Given the description of an element on the screen output the (x, y) to click on. 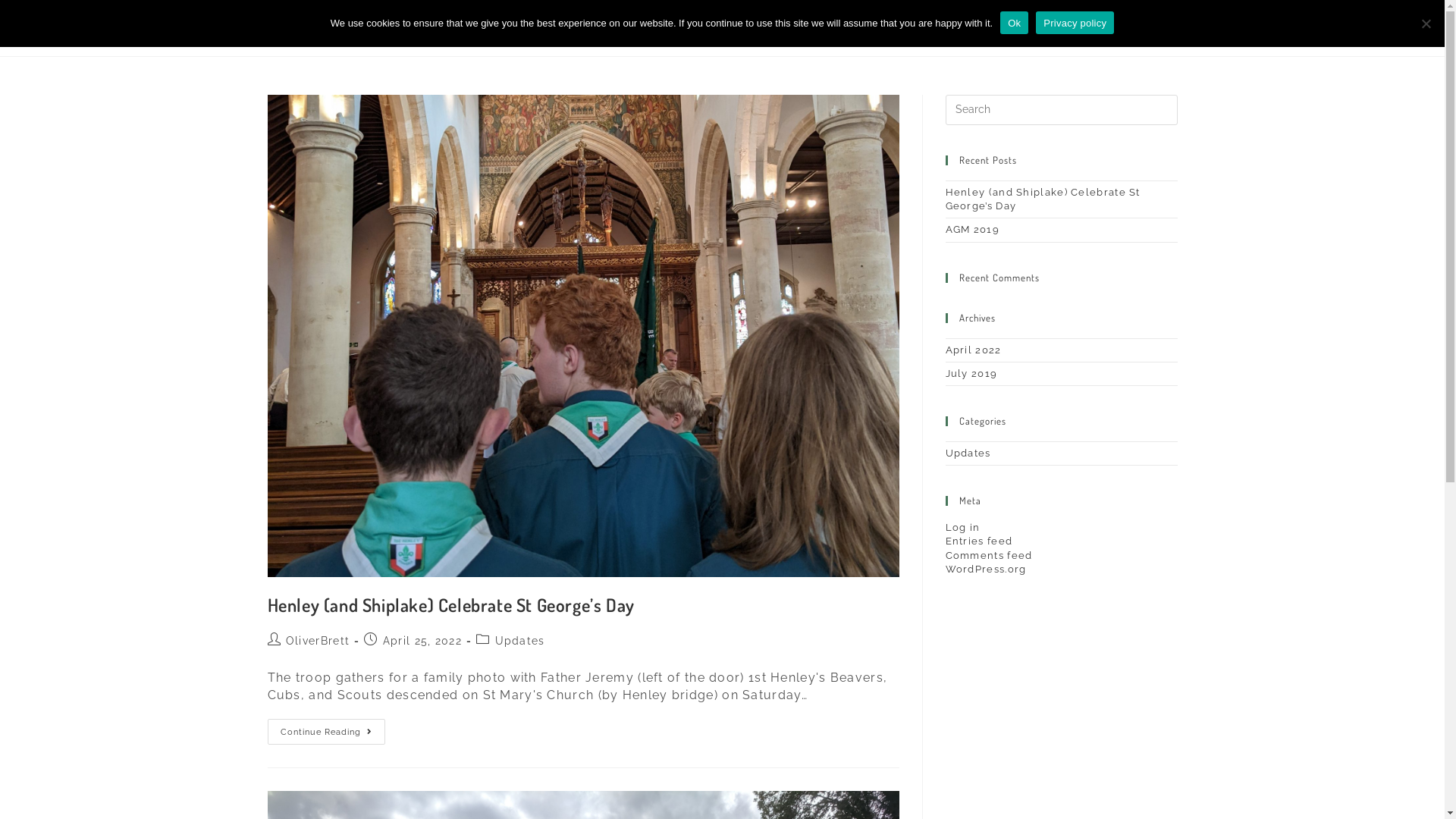
WordPress.org Element type: text (985, 568)
Scouts Element type: text (890, 28)
OliverBrett Element type: text (317, 640)
Updates Element type: text (520, 640)
1st Henley Scouts Element type: text (349, 27)
Ok Element type: text (1014, 22)
April 2022 Element type: text (972, 349)
Updates Element type: text (967, 452)
AGM 2019 Element type: text (971, 229)
Contact Element type: text (1089, 28)
Leaders & Helpers Element type: text (985, 28)
Entries feed Element type: text (978, 540)
Comments feed Element type: text (988, 554)
July 2019 Element type: text (970, 373)
Privacy policy Element type: text (1074, 22)
Cubs Element type: text (838, 28)
Blog Element type: text (1157, 28)
No Element type: hover (1425, 23)
Log in Element type: text (961, 527)
Beavers Element type: text (782, 28)
